Given the description of an element on the screen output the (x, y) to click on. 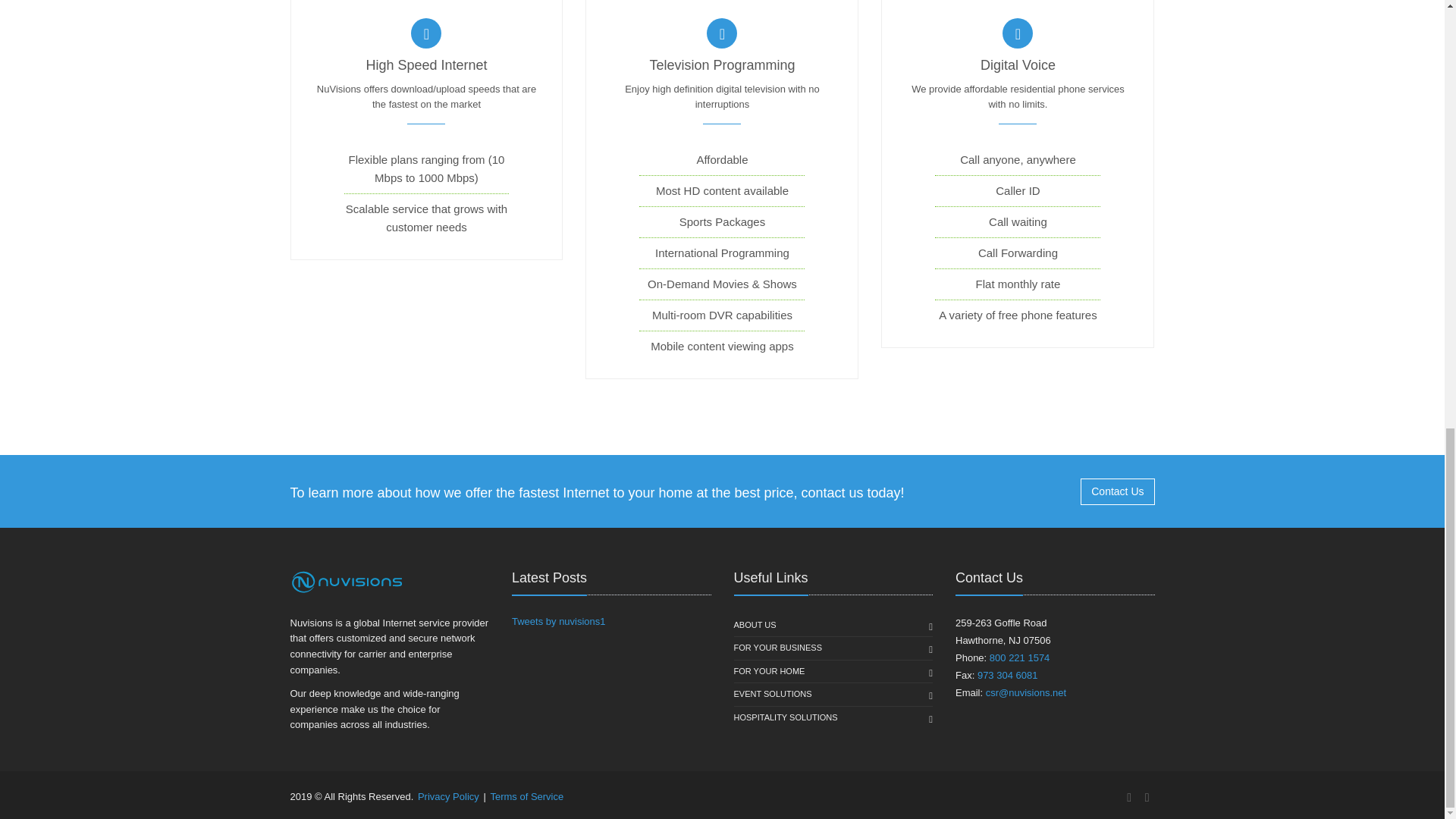
800 221 1574 (1019, 657)
HOSPITALITY SOLUTIONS (785, 717)
Terms of Service (526, 796)
Tweets by nuvisions1 (558, 621)
Contact Us (1117, 491)
Contact Us (1052, 490)
ABOUT US (754, 625)
EVENT SOLUTIONS (772, 694)
973 304 6081 (1007, 674)
FOR YOUR HOME (769, 671)
